Given the description of an element on the screen output the (x, y) to click on. 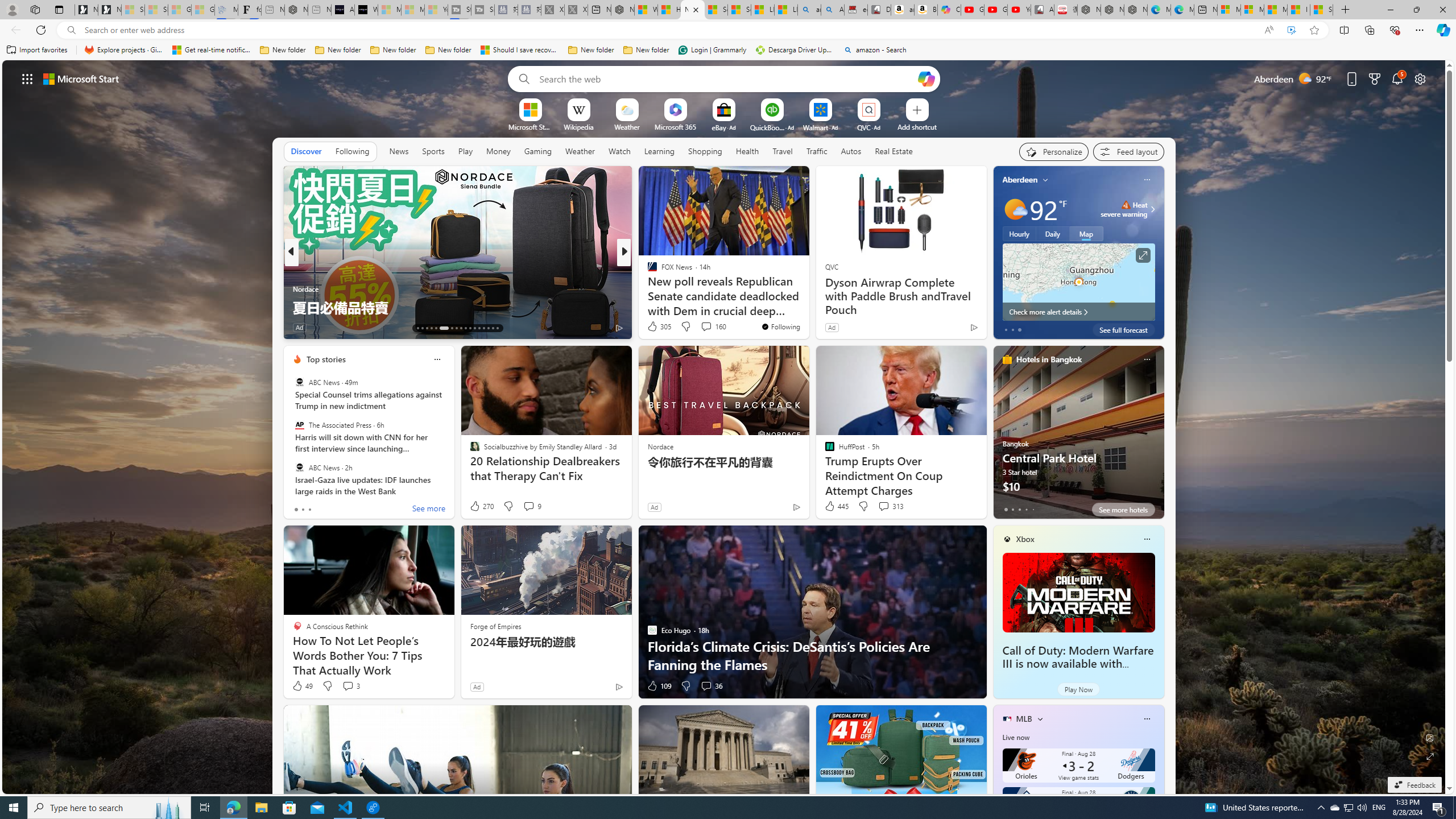
Wikipedia (578, 126)
AutomationID: backgroundImagePicture (723, 426)
Travel (782, 151)
The Associated Press (299, 424)
Heat - Severe Heat severe warning (1123, 208)
View comments 26 Comment (704, 327)
Liron Segev (647, 288)
Newsweek (647, 270)
3k Like (652, 327)
49 Like (301, 685)
Nordace - Nordace has arrived Hong Kong (1135, 9)
Nordace - My Account (622, 9)
News (398, 151)
Shopping (705, 151)
